Given the description of an element on the screen output the (x, y) to click on. 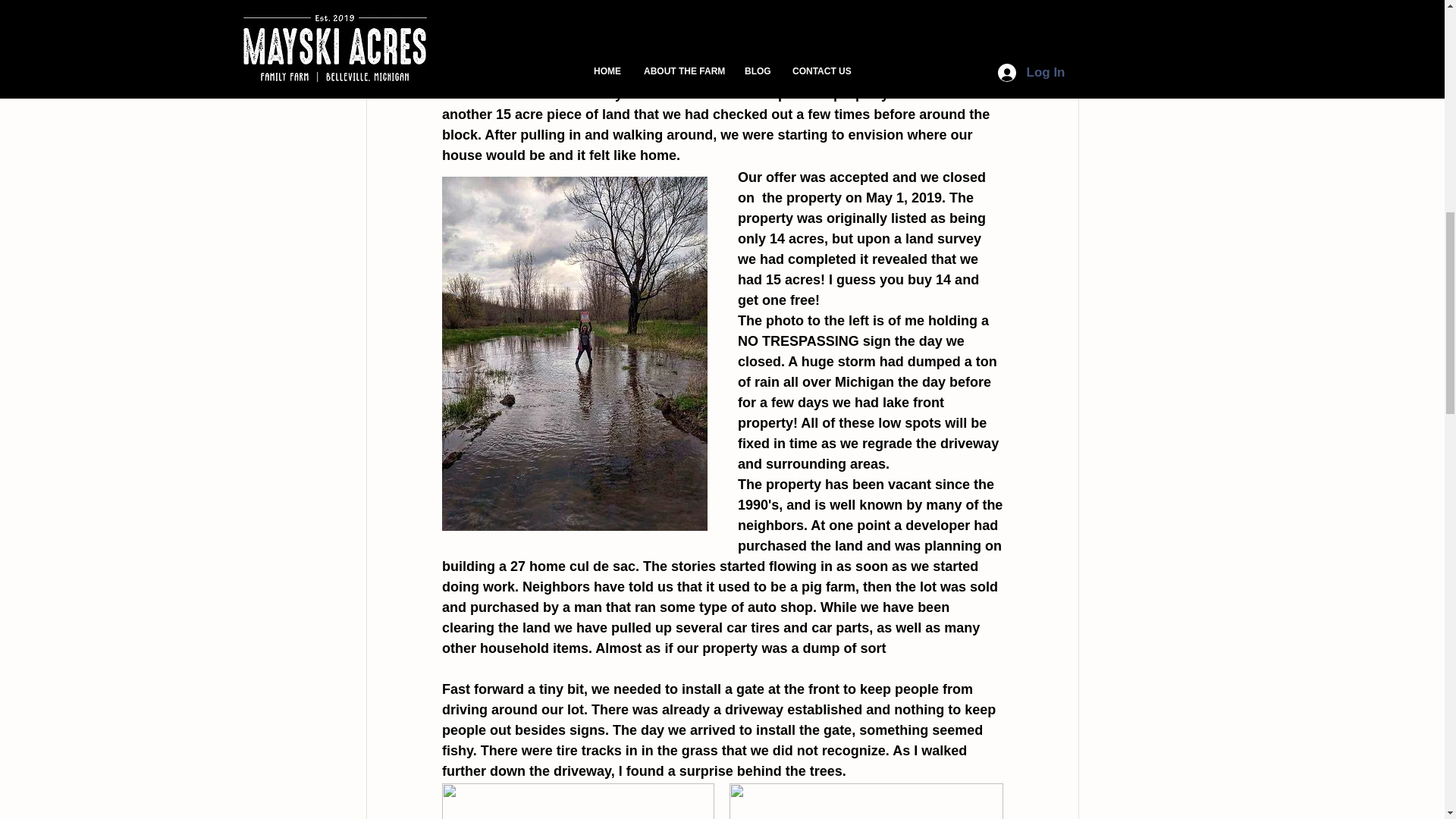
click here (568, 11)
